Given the description of an element on the screen output the (x, y) to click on. 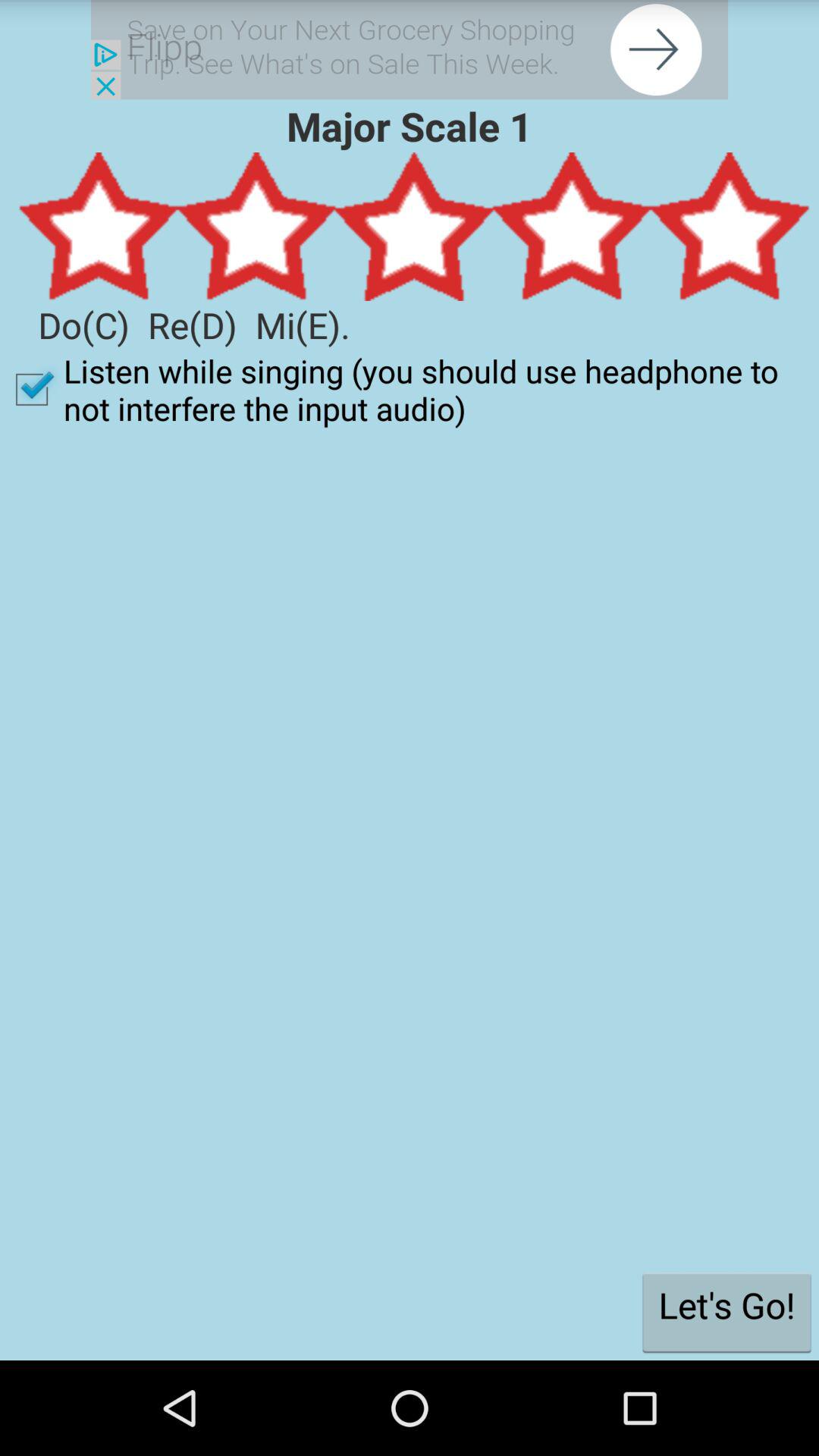
go to next (409, 49)
